Given the description of an element on the screen output the (x, y) to click on. 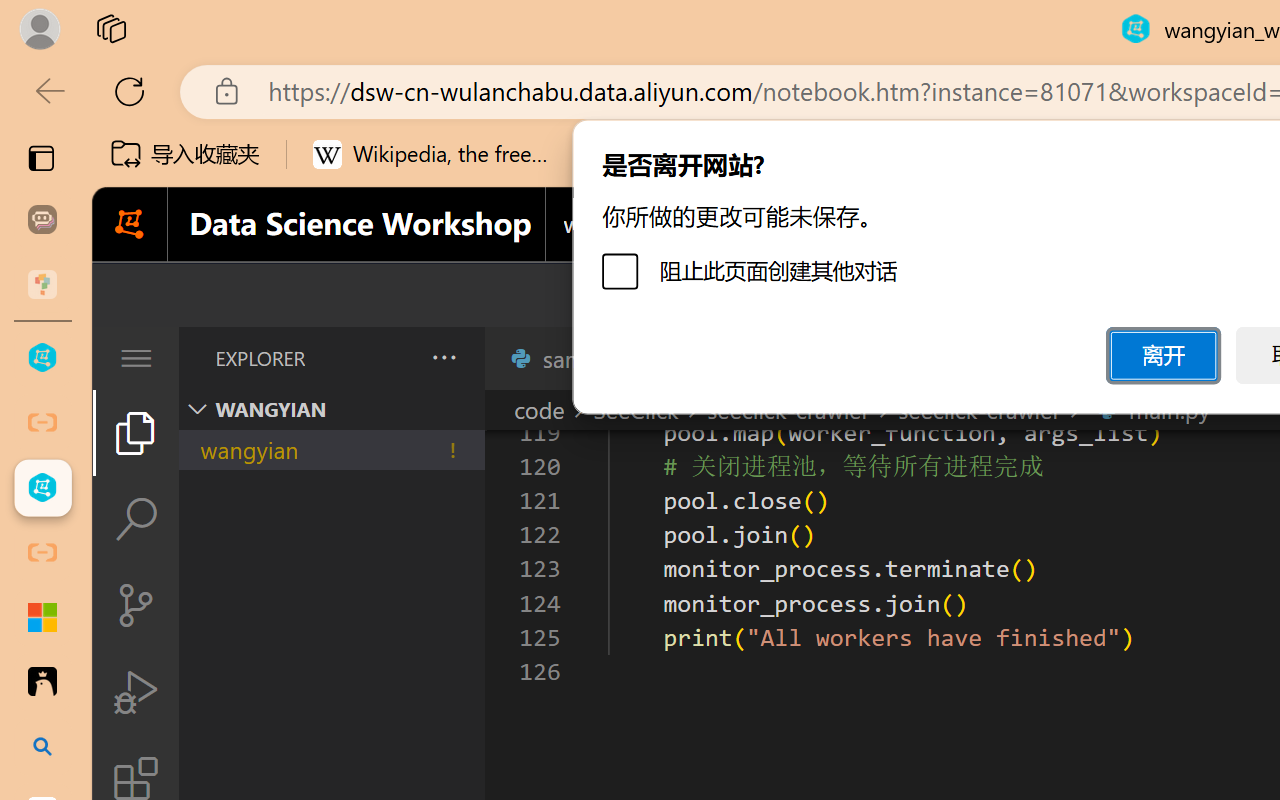
Source Control (Ctrl+Shift+G) (135, 604)
wangyian_dsw - DSW (42, 357)
